Given the description of an element on the screen output the (x, y) to click on. 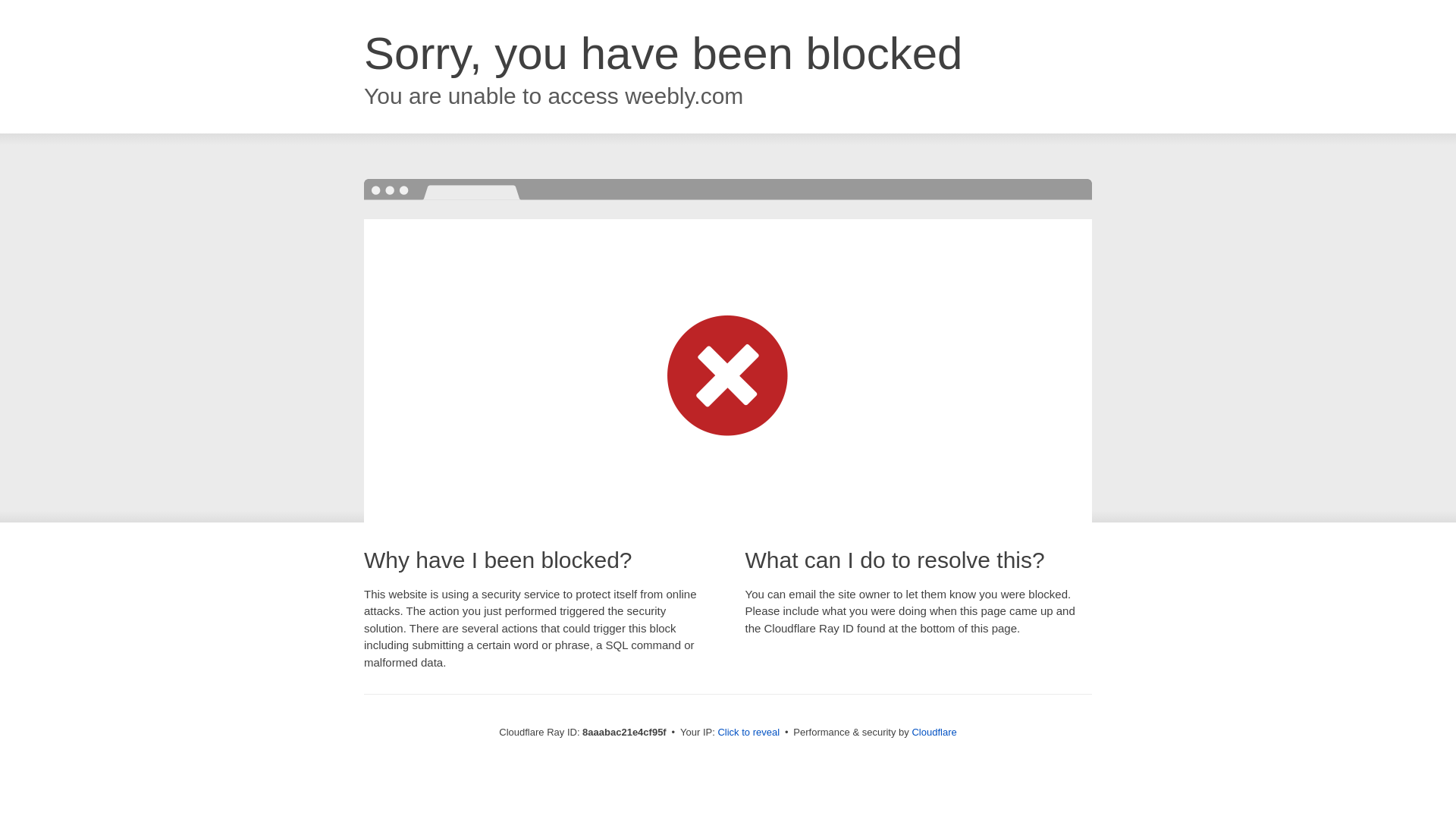
Cloudflare (933, 731)
Click to reveal (747, 732)
